Given the description of an element on the screen output the (x, y) to click on. 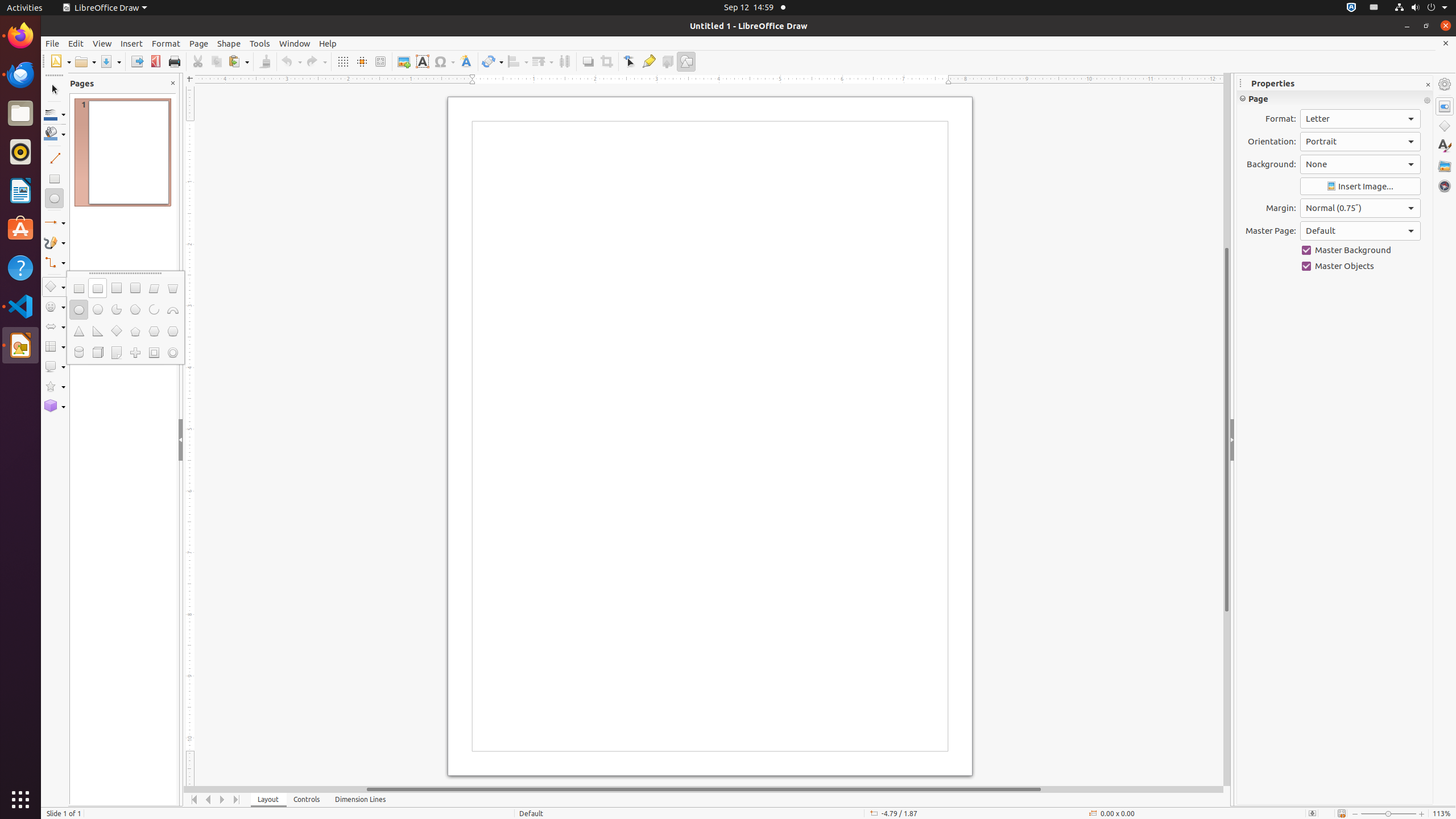
Symbol Element type: push-button (443, 61)
:1.21/StatusNotifierItem Element type: menu (1373, 7)
Master Background Element type: check-box (1360, 249)
Controls Element type: page-tab (307, 799)
